Given the description of an element on the screen output the (x, y) to click on. 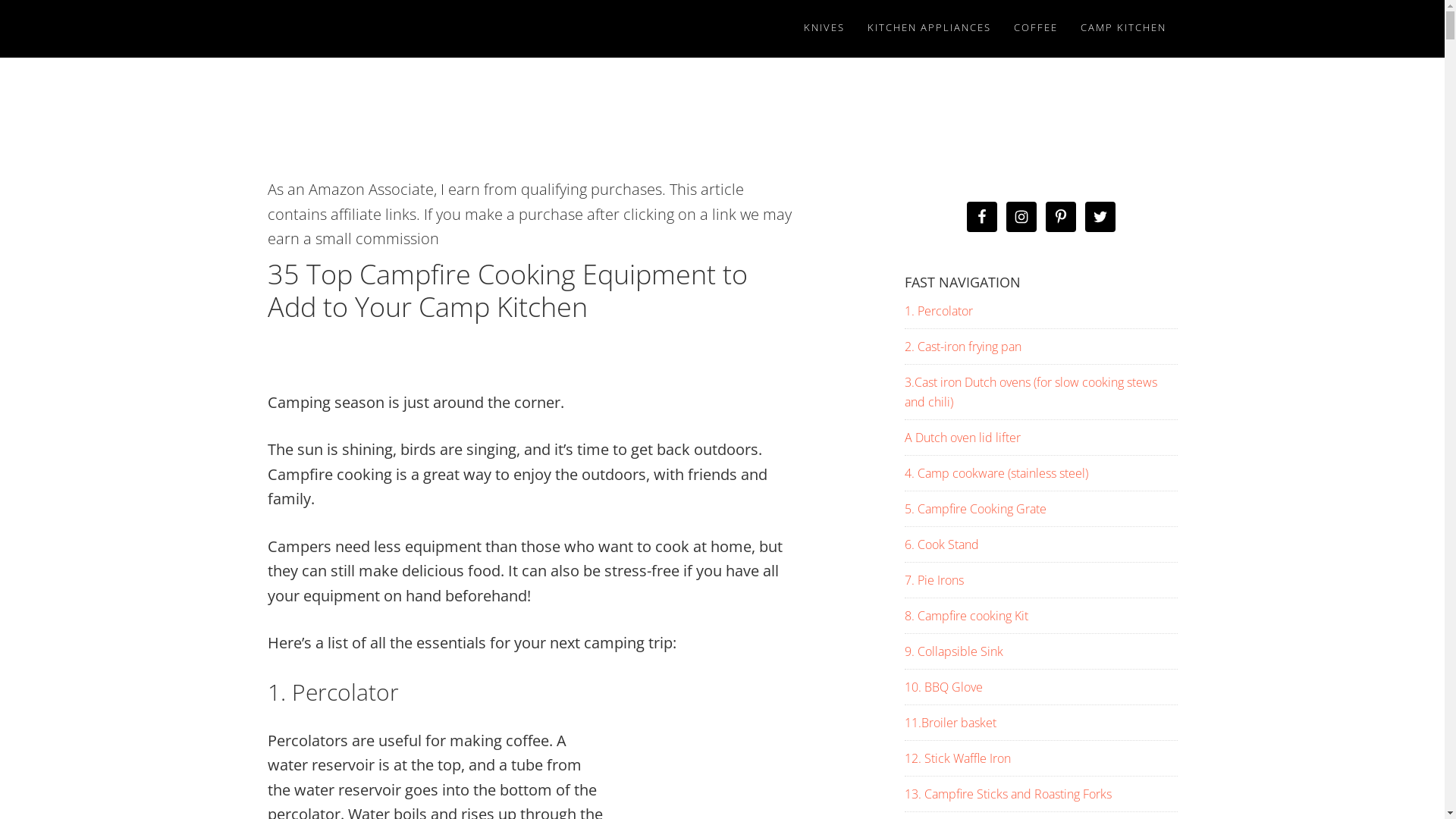
4. Camp cookware (stainless steel) Element type: text (995, 472)
10Kitchen Element type: text (402, 28)
12. Stick Waffle Iron Element type: text (956, 757)
6. Cook Stand Element type: text (940, 544)
3.Cast iron Dutch ovens (for slow cooking stews and chili) Element type: text (1029, 391)
A Dutch oven lid lifter Element type: text (961, 437)
10. BBQ Glove Element type: text (942, 686)
7. Pie Irons Element type: text (933, 579)
COFFEE Element type: text (1035, 27)
2. Cast-iron frying pan Element type: text (961, 346)
13. Campfire Sticks and Roasting Forks Element type: text (1006, 793)
1. Percolator Element type: text (937, 310)
9. Collapsible Sink Element type: text (952, 651)
KITCHEN APPLIANCES Element type: text (928, 27)
5. Campfire Cooking Grate Element type: text (974, 508)
KNIVES Element type: text (823, 27)
Skip to primary navigation Element type: text (0, 0)
11.Broiler basket Element type: text (949, 722)
8. Campfire cooking Kit Element type: text (965, 615)
CAMP KITCHEN Element type: text (1123, 27)
